Given the description of an element on the screen output the (x, y) to click on. 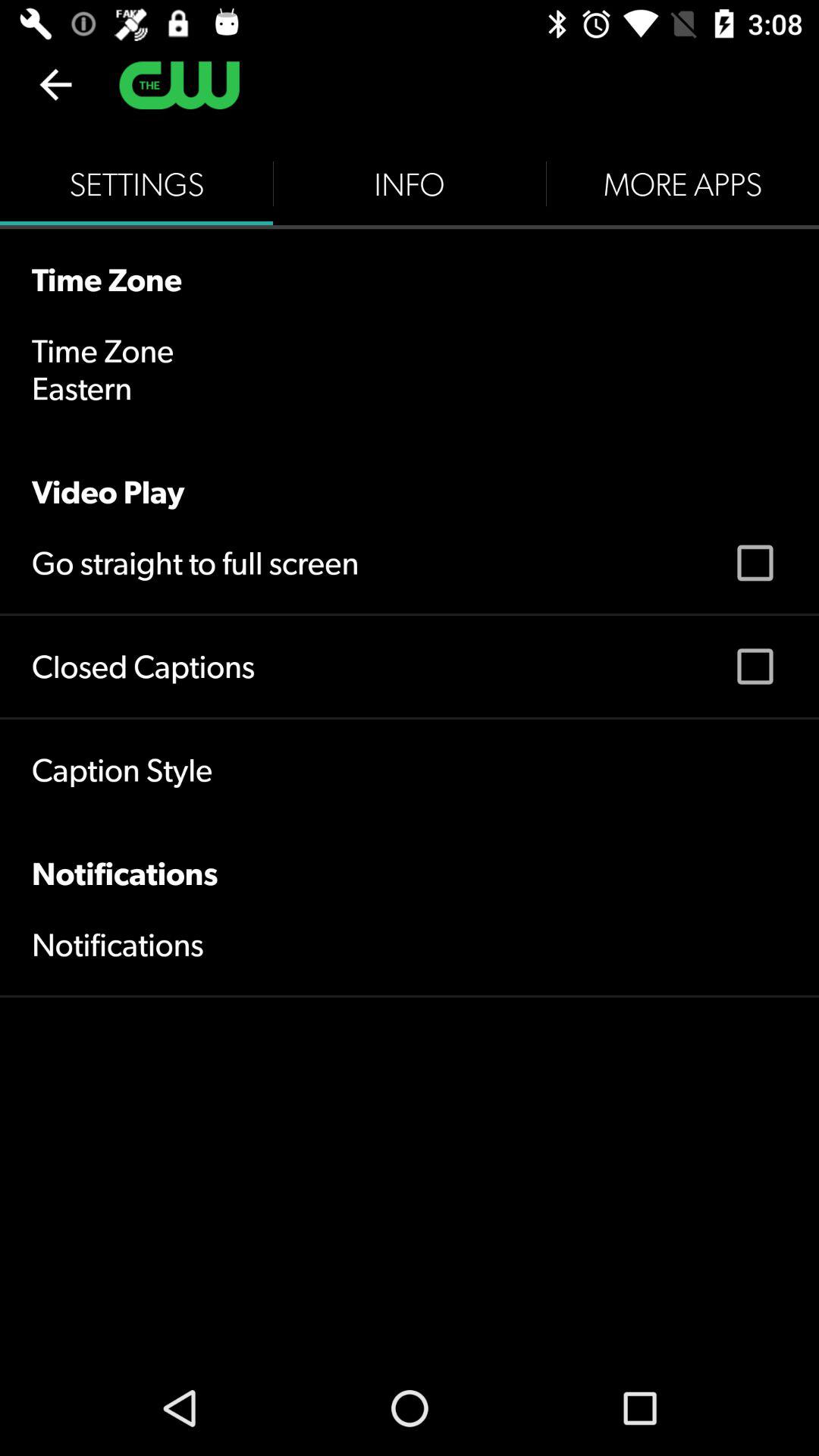
choose the settings item (136, 184)
